Given the description of an element on the screen output the (x, y) to click on. 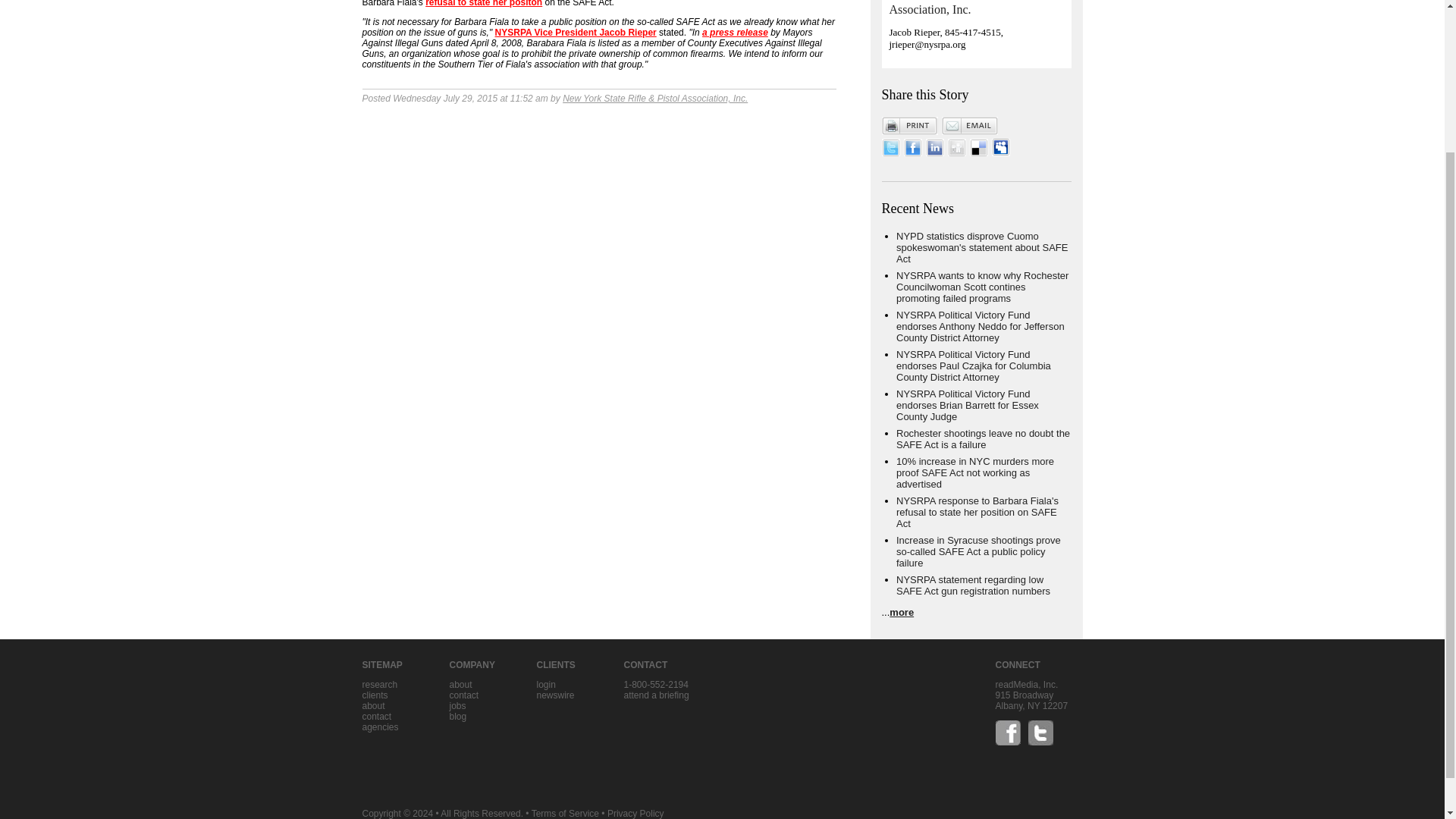
more (901, 612)
Post to Delicious (978, 152)
Post to MySpace (1000, 147)
a press release (734, 32)
agencies (380, 726)
contact (463, 695)
refusal to state her positon (483, 3)
Post to LinkedIn (933, 152)
about (373, 706)
jobs (456, 706)
